Given the description of an element on the screen output the (x, y) to click on. 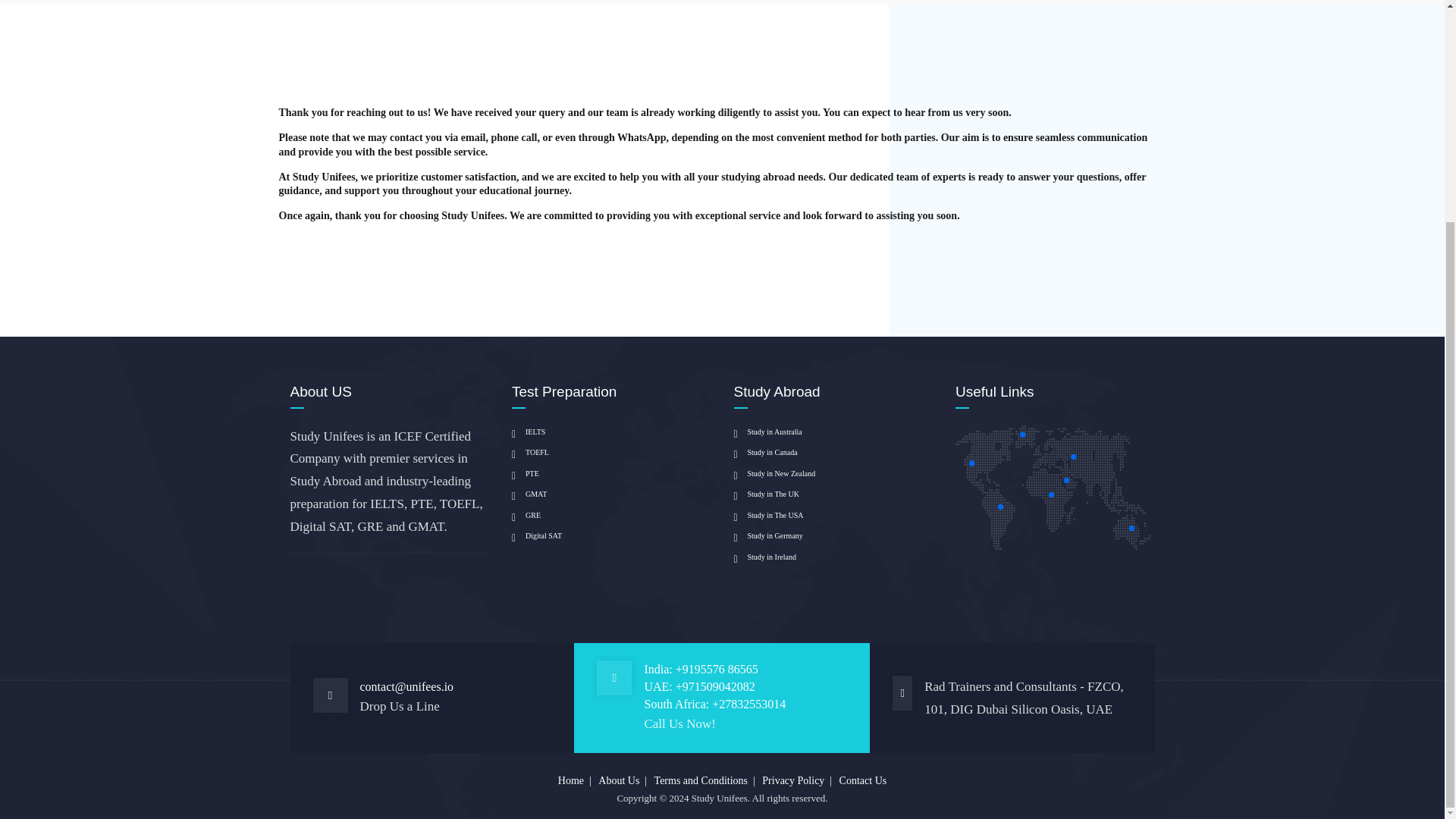
TOEFL (530, 452)
GRE (526, 515)
Digital SAT (537, 535)
PTE (525, 473)
Useful Links (1052, 487)
IELTS (528, 431)
GMAT (529, 494)
